Given the description of an element on the screen output the (x, y) to click on. 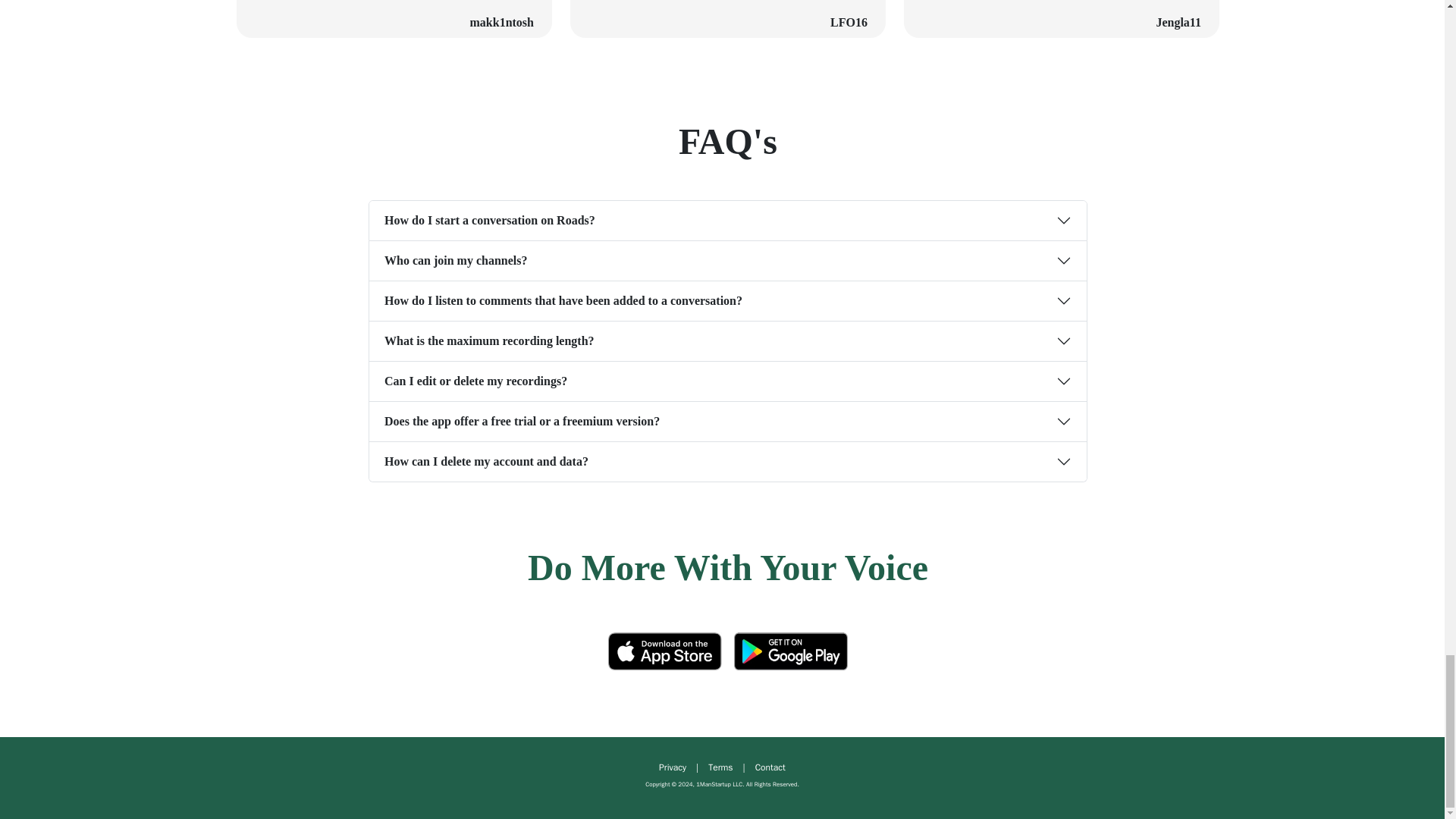
Does the app offer a free trial or a freemium version? (727, 421)
How can I delete my account and data? (727, 461)
Privacy (672, 767)
Who can join my channels? (727, 260)
How do I start a conversation on Roads? (727, 220)
Contact (769, 767)
What is the maximum recording length? (727, 341)
Can I edit or delete my recordings? (727, 381)
Terms (720, 767)
